Given the description of an element on the screen output the (x, y) to click on. 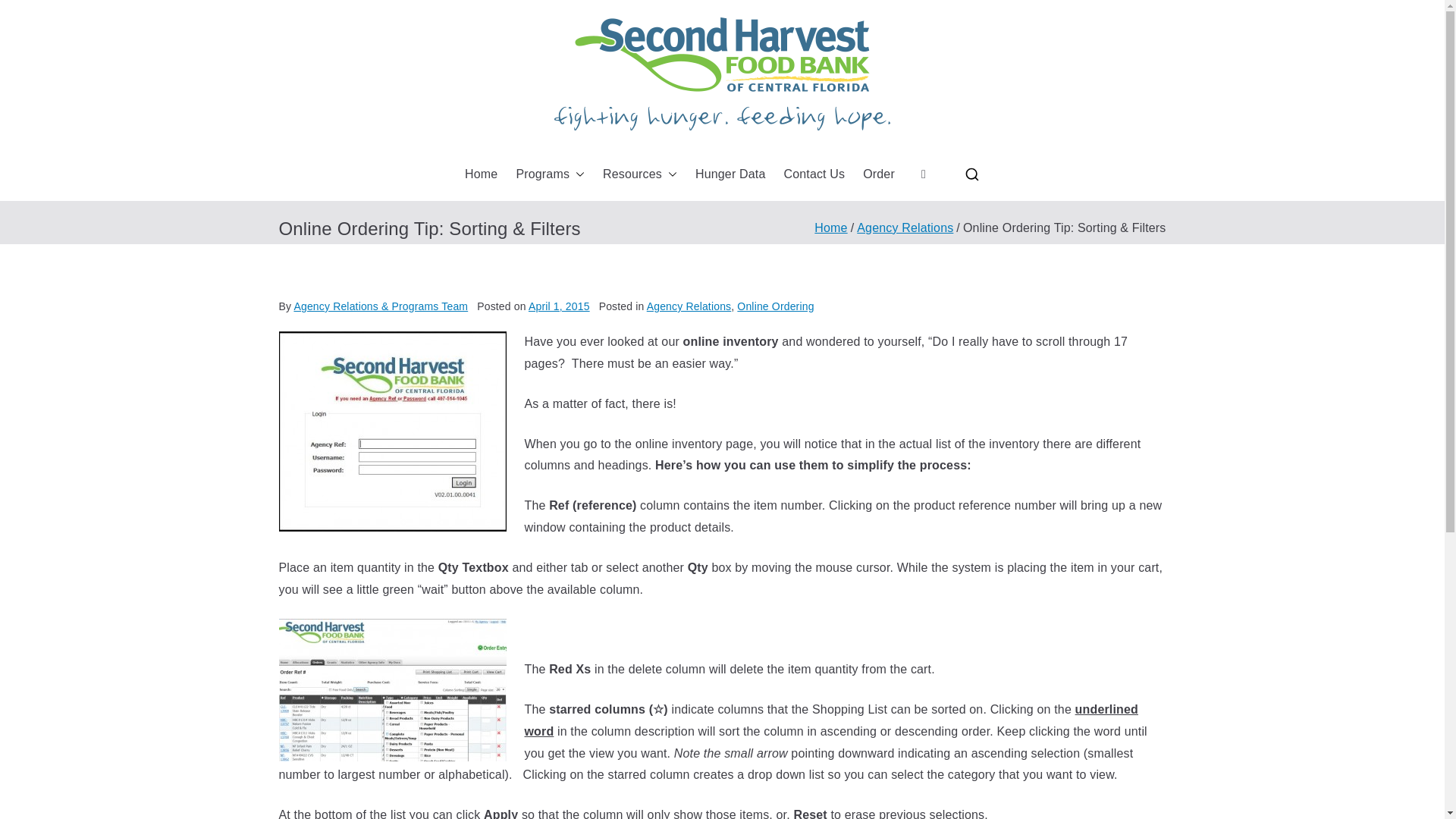
Hunger Data (730, 174)
Home (480, 174)
Search (26, 12)
Order (879, 174)
Resources (639, 174)
Programs (550, 174)
Contact Us (813, 174)
